Given the description of an element on the screen output the (x, y) to click on. 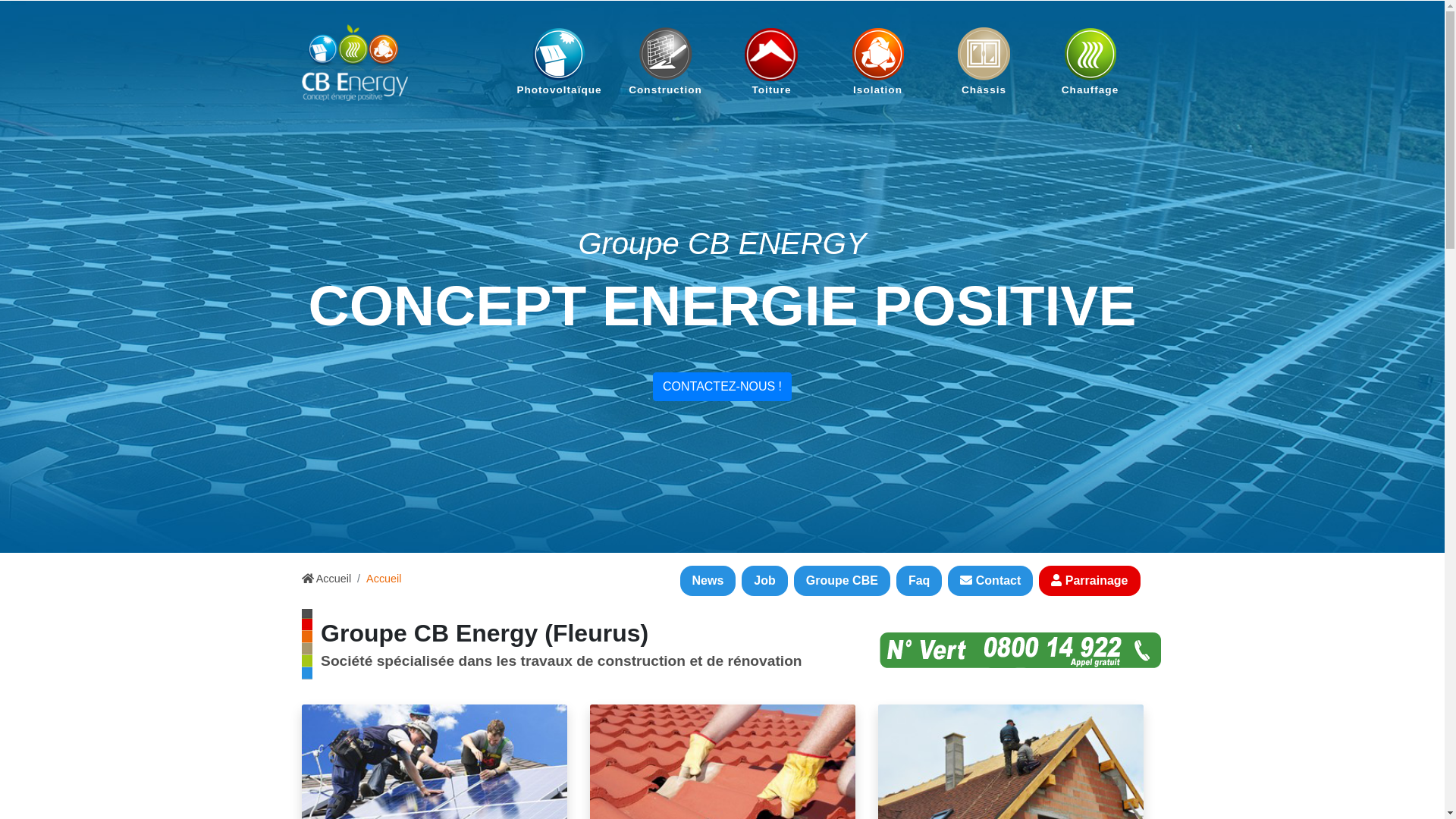
Isolation Element type: text (878, 62)
Contact Element type: text (989, 580)
Job Element type: text (764, 580)
Groupe CBE Element type: text (841, 580)
CONTACTEZ-NOUS ! Element type: text (721, 386)
Toiture Element type: text (771, 62)
Construction Element type: text (665, 62)
Faq Element type: text (918, 580)
Chauffage Element type: text (1090, 62)
Parrainage Element type: text (1088, 580)
News Element type: text (708, 580)
Accueil Element type: text (326, 579)
